Given the description of an element on the screen output the (x, y) to click on. 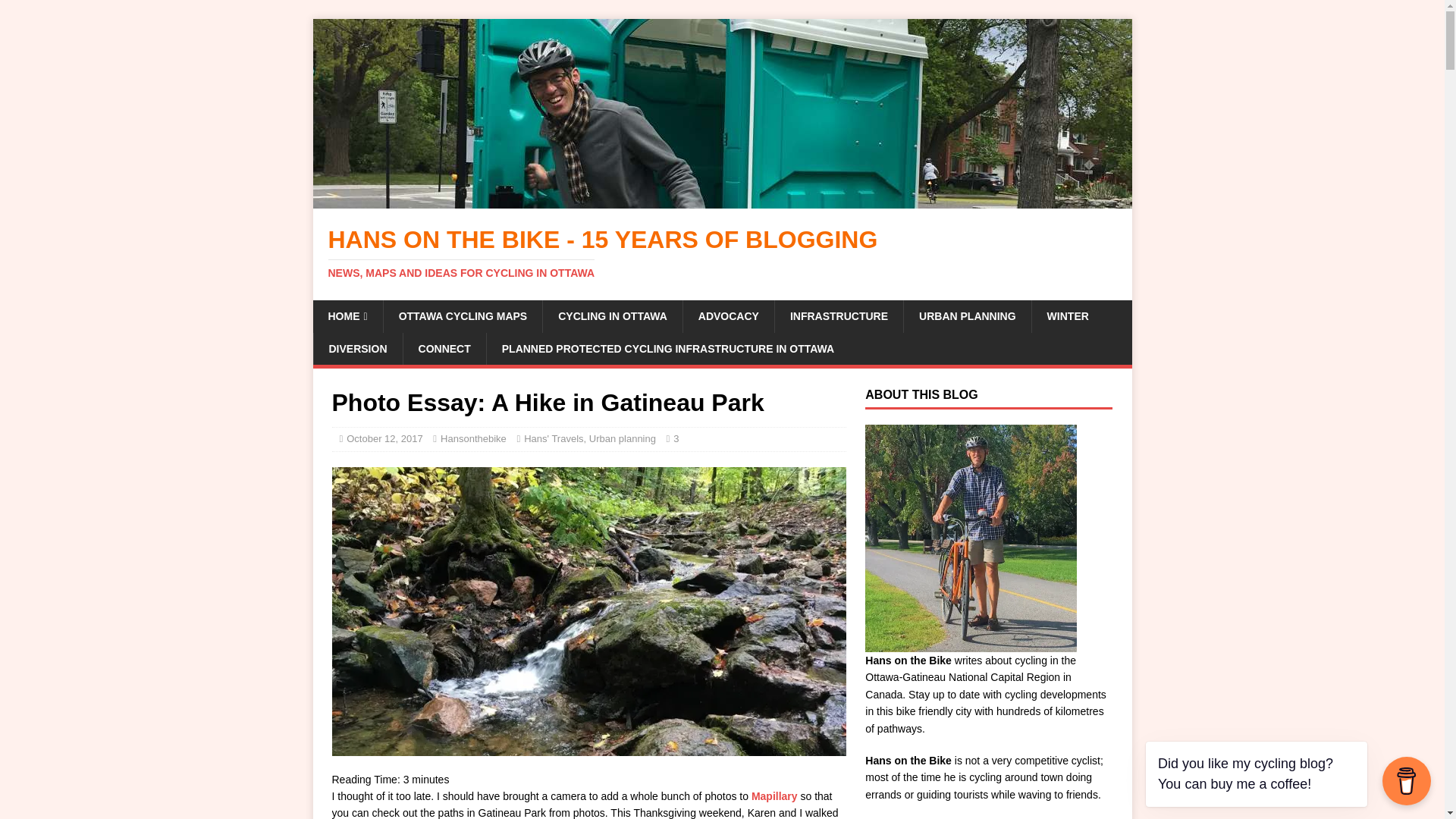
ADVOCACY (728, 316)
Hans on the Bike - 15 years of blogging (721, 253)
Hans' Travels (553, 438)
October 12, 2017 (384, 438)
Mapillary (774, 796)
WINTER (1066, 316)
CONNECT (444, 348)
CYCLING IN OTTAWA (611, 316)
Hansonthebike (473, 438)
Urban planning (622, 438)
